Given the description of an element on the screen output the (x, y) to click on. 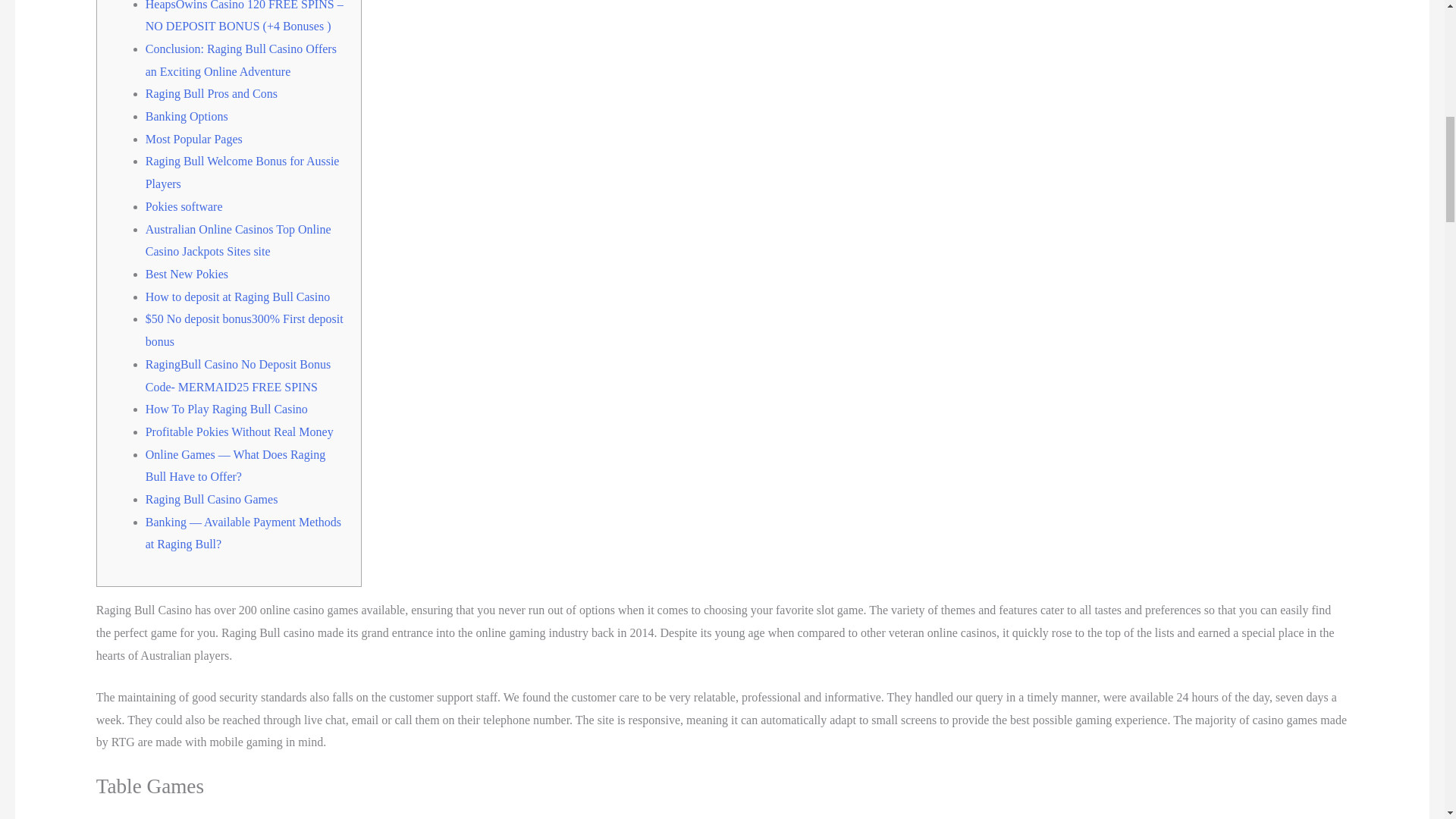
Raging Bull Pros and Cons (211, 92)
Most Popular Pages (194, 138)
Raging Bull Welcome Bonus for Aussie Players (242, 172)
Banking Options (186, 115)
Best New Pokies (186, 273)
Pokies software (183, 205)
